Given the description of an element on the screen output the (x, y) to click on. 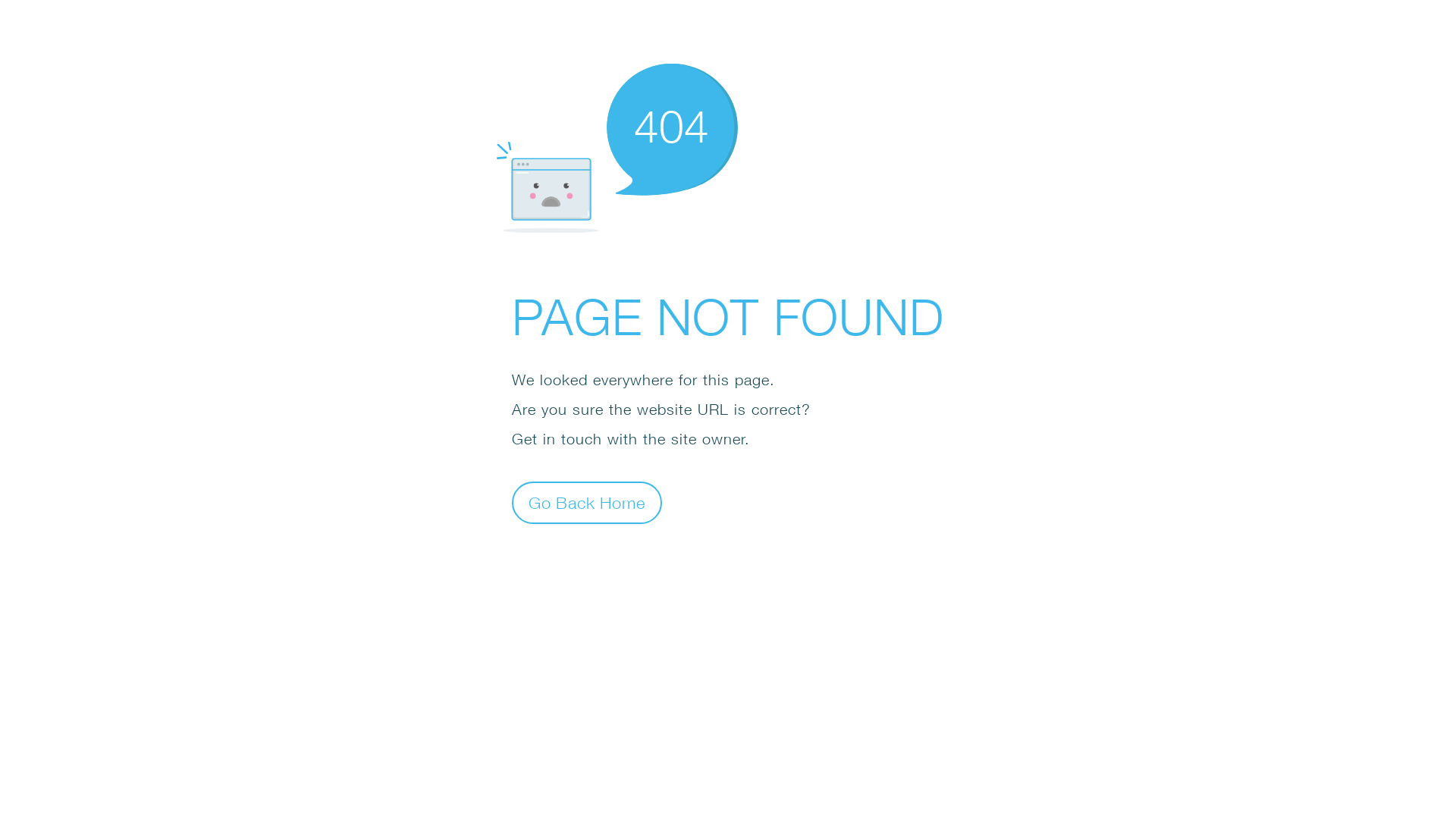
Go Back Home Element type: text (586, 502)
